Given the description of an element on the screen output the (x, y) to click on. 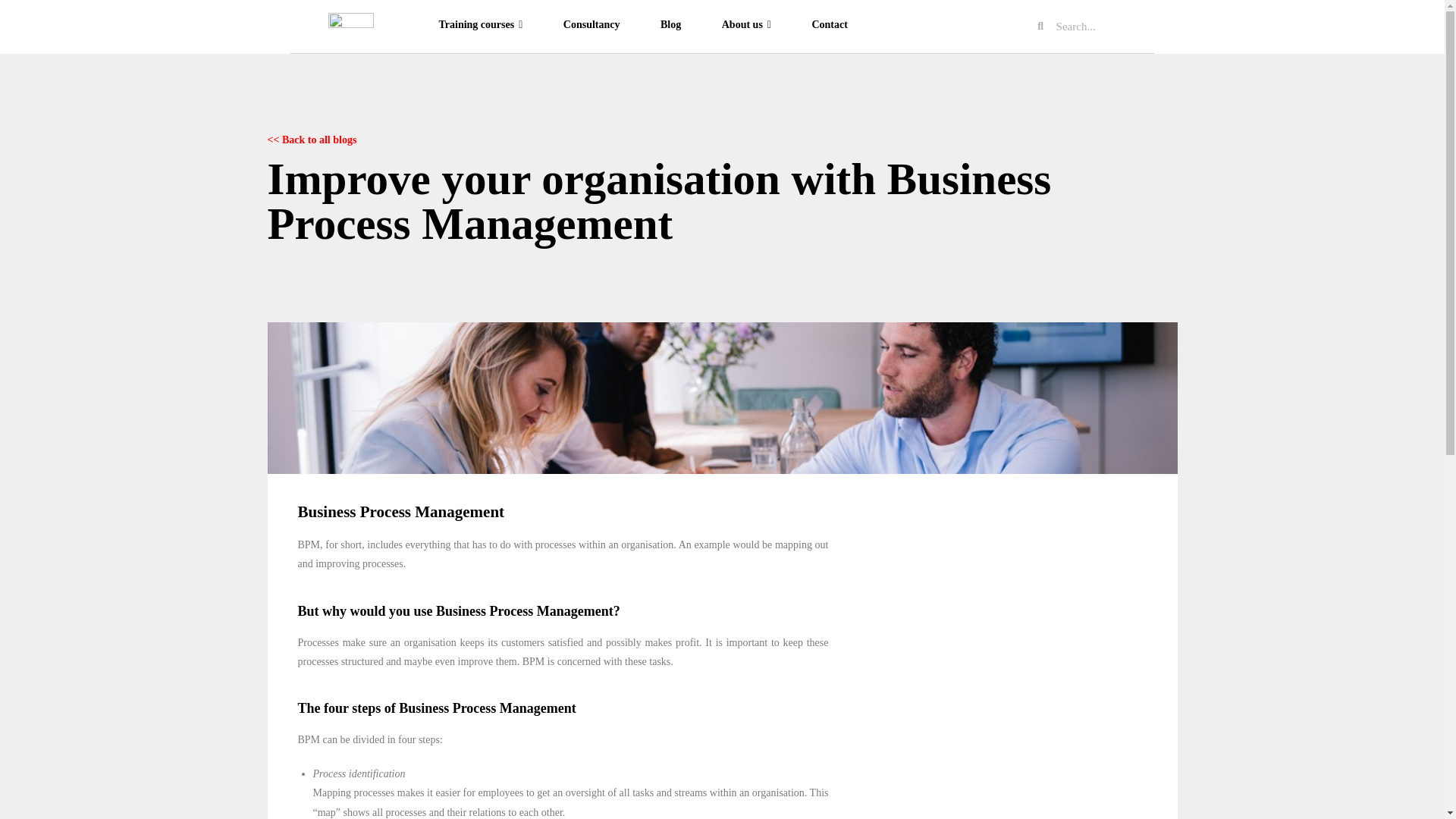
Search (1098, 26)
Blog (671, 24)
About us (746, 24)
Consultancy (591, 24)
Contact (829, 24)
Training courses (480, 24)
